Given the description of an element on the screen output the (x, y) to click on. 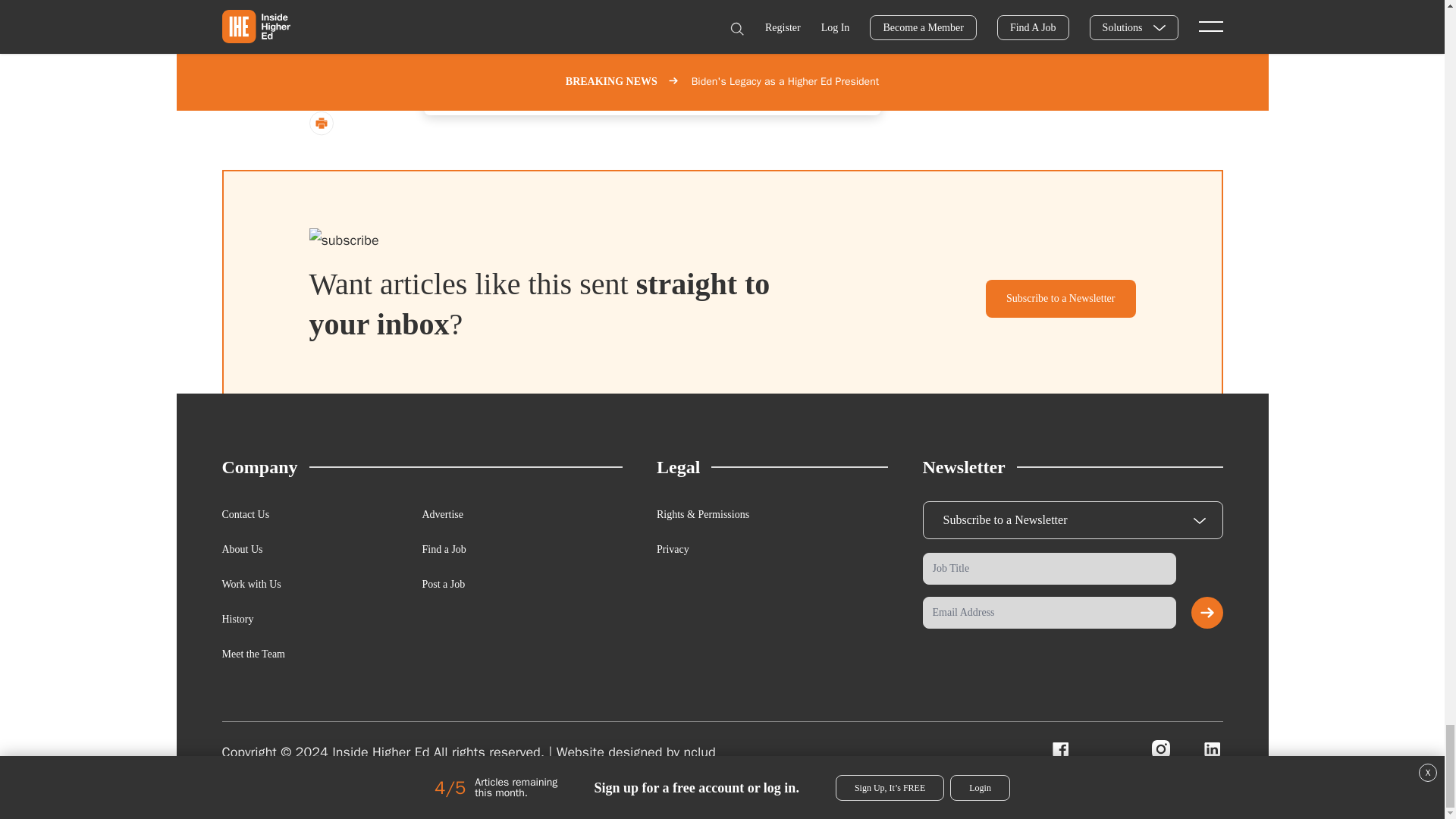
Submit (1207, 612)
